Given the description of an element on the screen output the (x, y) to click on. 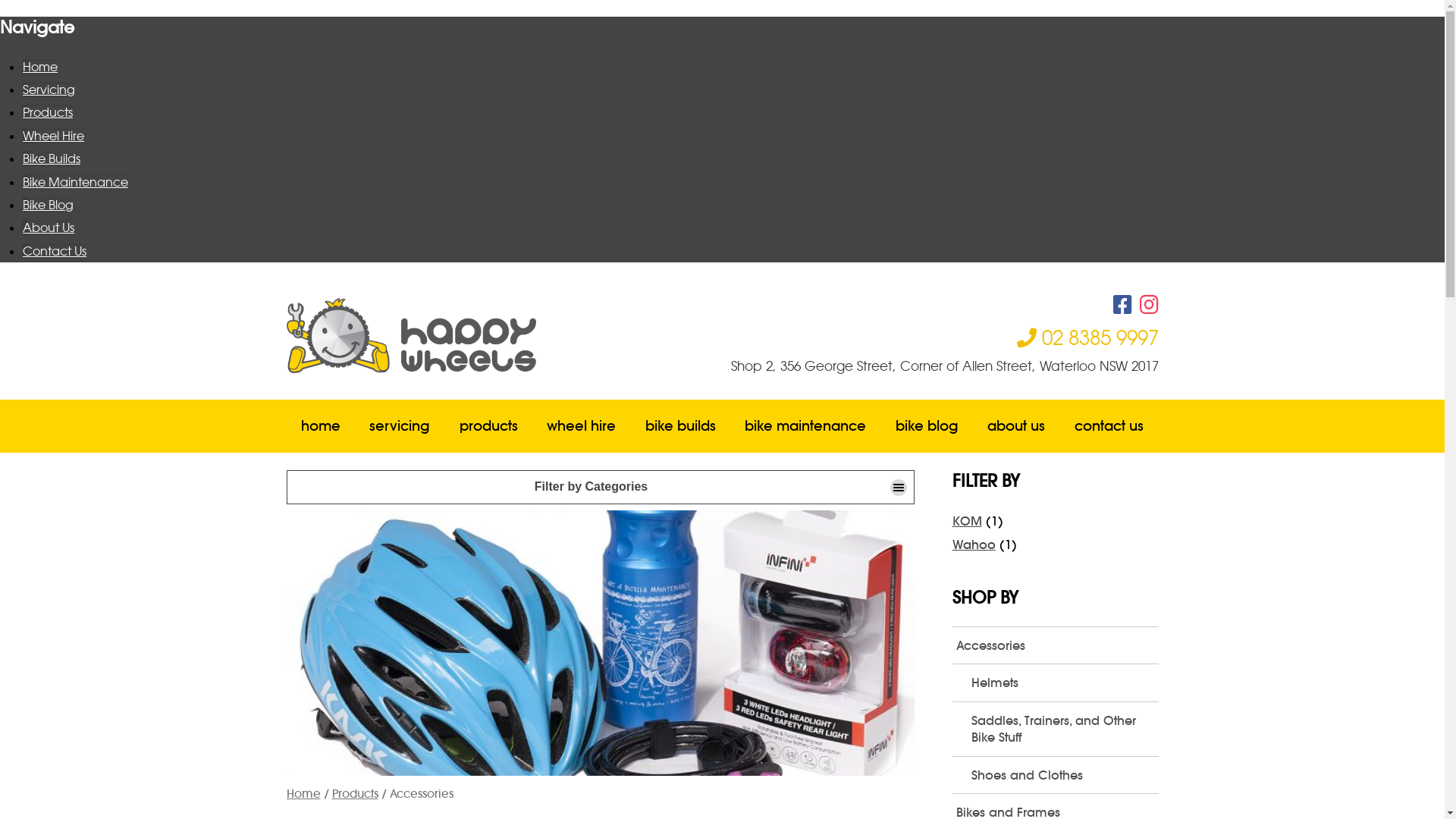
Bike Blog Element type: text (47, 204)
Home Element type: text (303, 793)
Filter by Categories Element type: text (600, 487)
wheel hire Element type: text (581, 425)
Products Element type: text (355, 793)
servicing Element type: text (399, 425)
products Element type: text (489, 425)
bike builds Element type: text (680, 425)
contact us Element type: text (1109, 425)
02 8385 9997 Element type: text (1086, 337)
Happy Wheels Element type: text (504, 334)
home Element type: text (320, 425)
Accessories Element type: text (1055, 645)
Wahoo Element type: text (973, 544)
Bike Builds Element type: text (51, 158)
Saddles, Trainers, and Other Bike Stuff Element type: text (1062, 729)
Bike Maintenance Element type: text (75, 181)
Servicing Element type: text (48, 89)
bike maintenance Element type: text (805, 425)
About Us Element type: text (48, 227)
Wheel Hire Element type: text (53, 135)
Products Element type: text (47, 111)
about us Element type: text (1016, 425)
bike blog Element type: text (927, 425)
Contact Us Element type: text (54, 250)
Home Element type: text (39, 66)
Helmets Element type: text (1062, 682)
KOM Element type: text (967, 520)
Shoes and Clothes Element type: text (1062, 774)
